Given the description of an element on the screen output the (x, y) to click on. 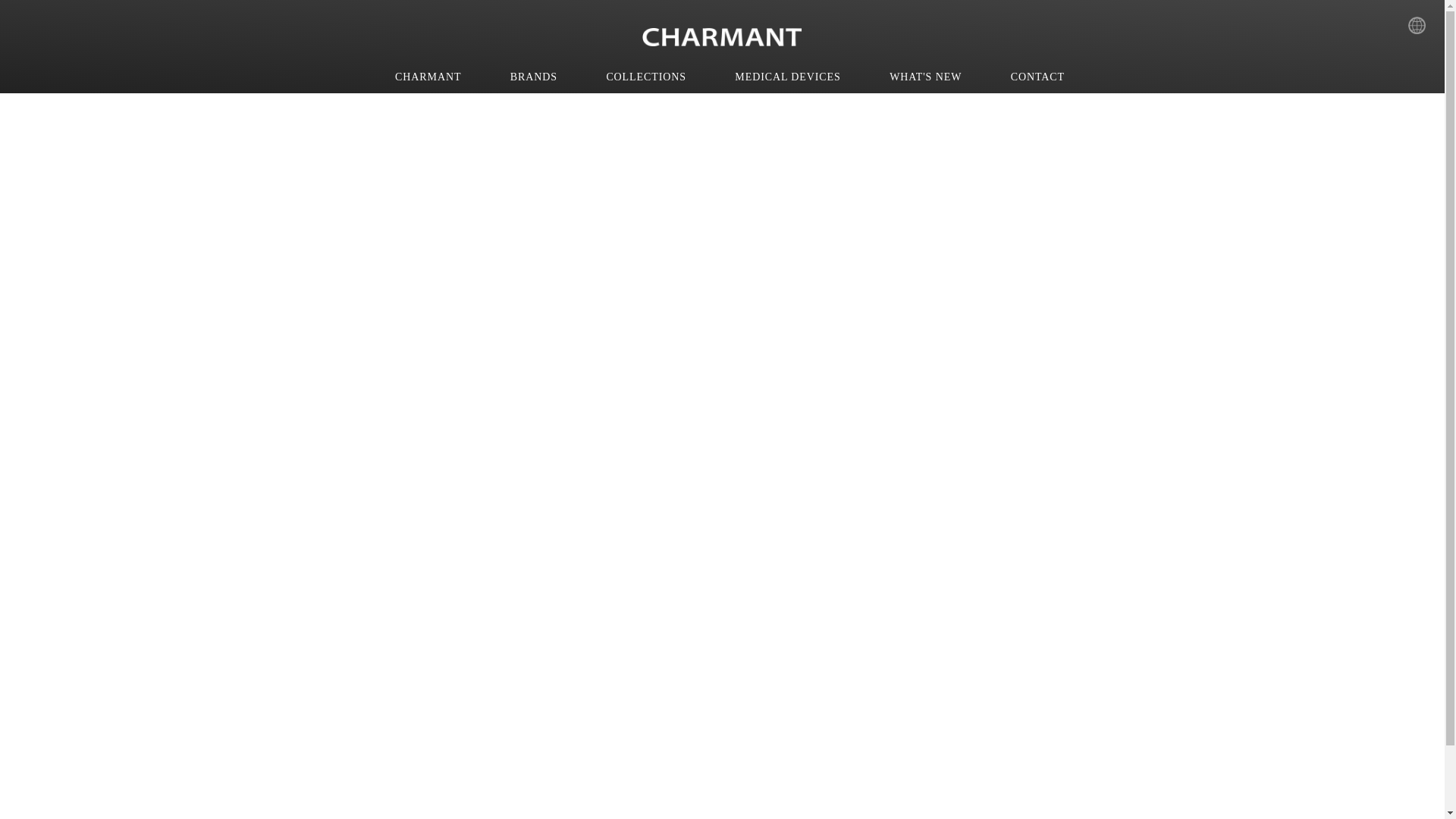
CHARMANT (427, 76)
Country Selection (1422, 27)
